Given the description of an element on the screen output the (x, y) to click on. 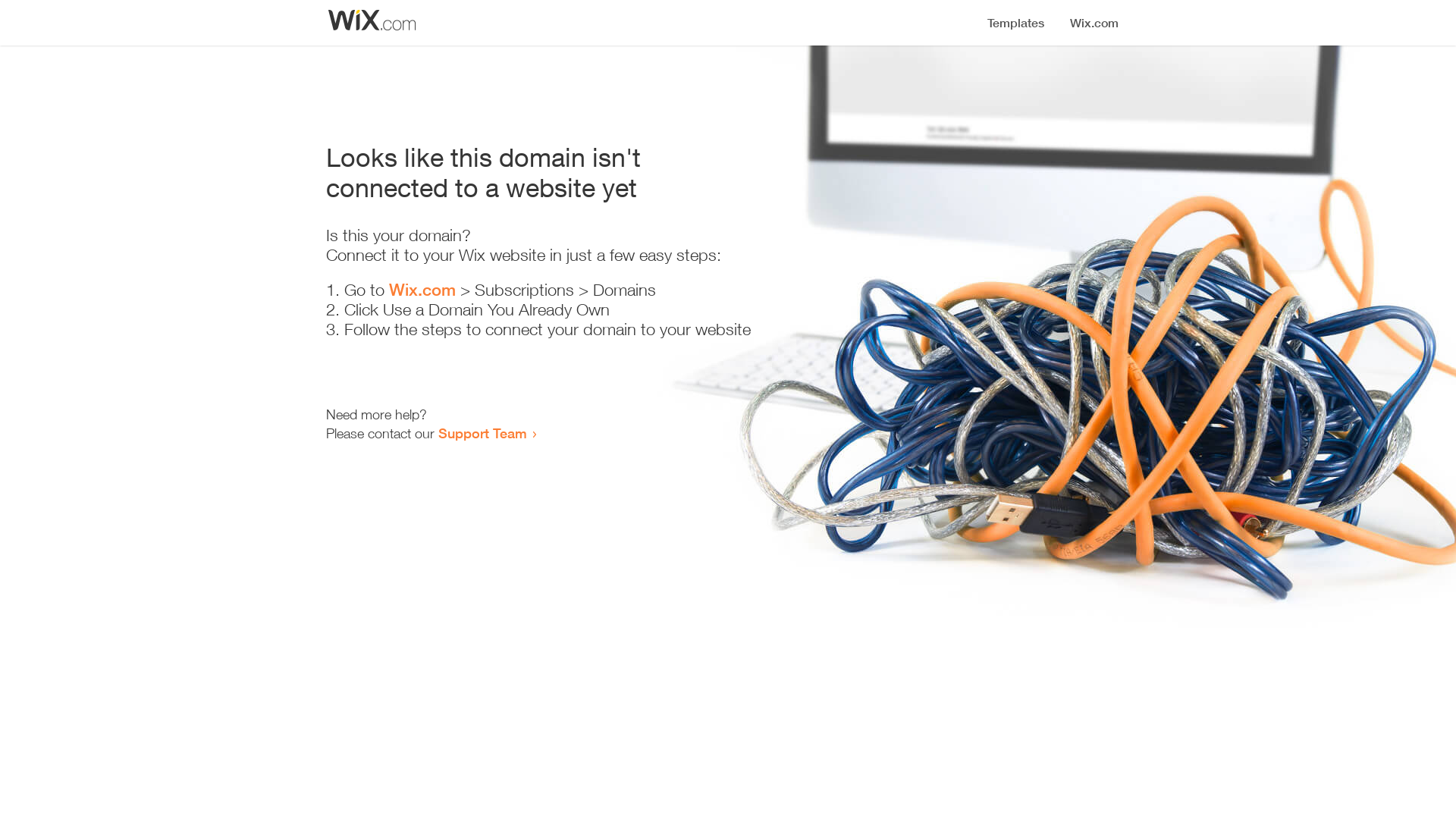
Wix.com Element type: text (422, 289)
Support Team Element type: text (482, 432)
